Given the description of an element on the screen output the (x, y) to click on. 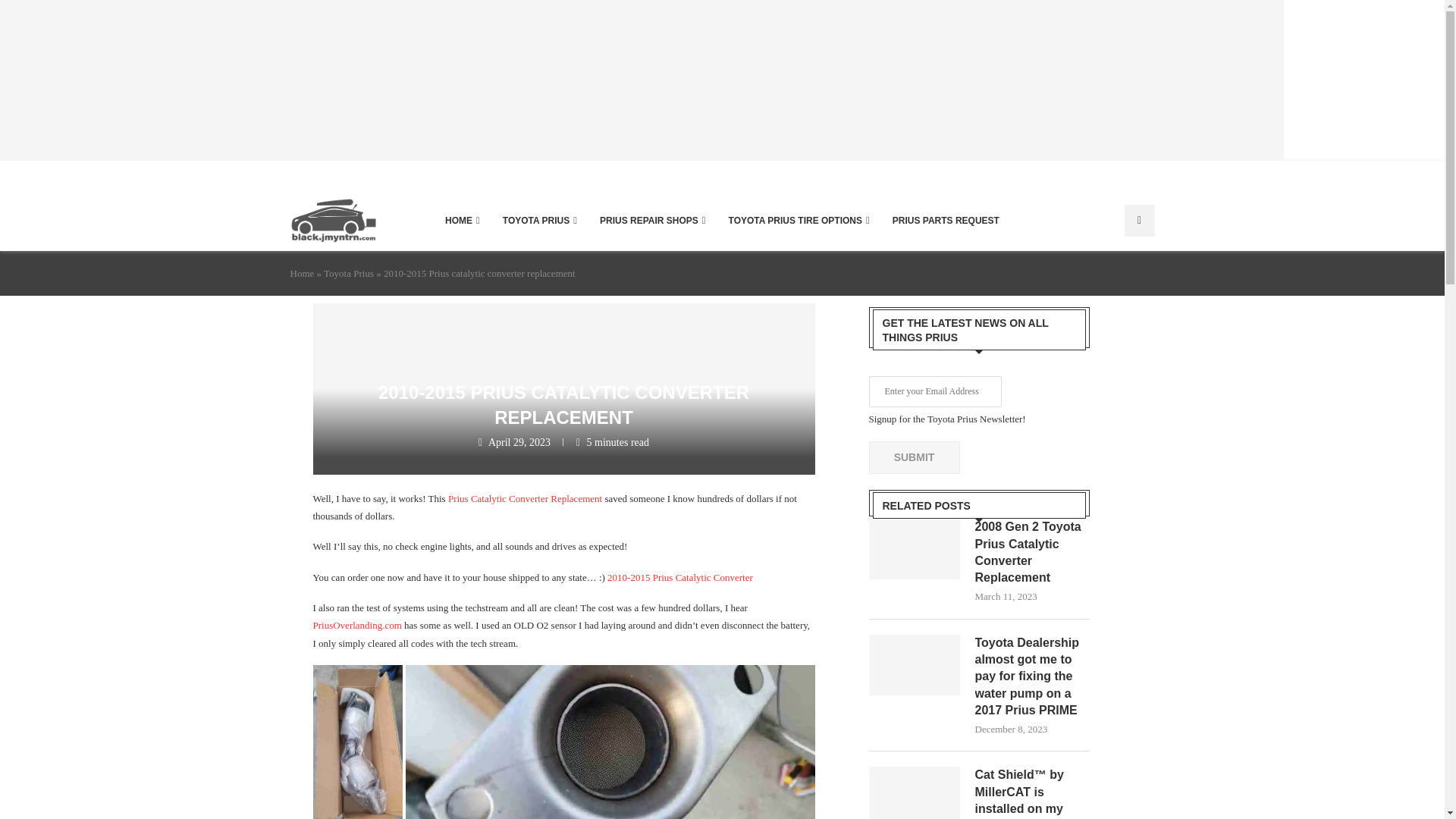
If this Reel is posted, that means my home-built social... (400, 80)
When the tallest Gen 3 Prius in America pulls up,... (1043, 80)
2008 Gen 2 Toyota Prius Catalytic Converter Replacement (914, 548)
All I can say is, once I get the SIMSCAN... (80, 80)
2008 Gen 2 Toyota Prius Catalytic Converter Replacement (1032, 552)
